Given the description of an element on the screen output the (x, y) to click on. 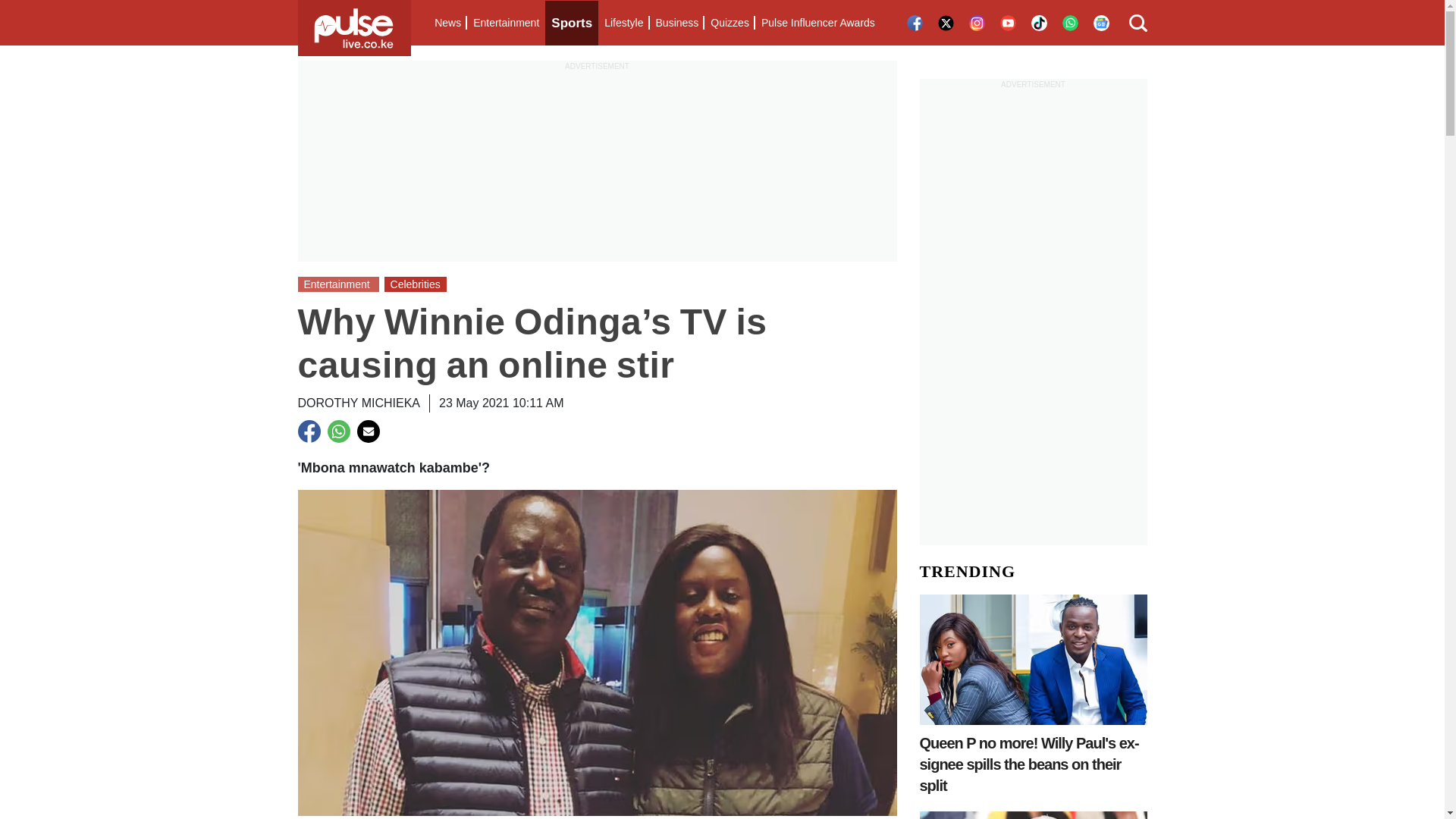
Sports (571, 22)
Business (676, 22)
Lifestyle (623, 22)
Entertainment (505, 22)
Quizzes (729, 22)
Pulse Influencer Awards (817, 22)
